Given the description of an element on the screen output the (x, y) to click on. 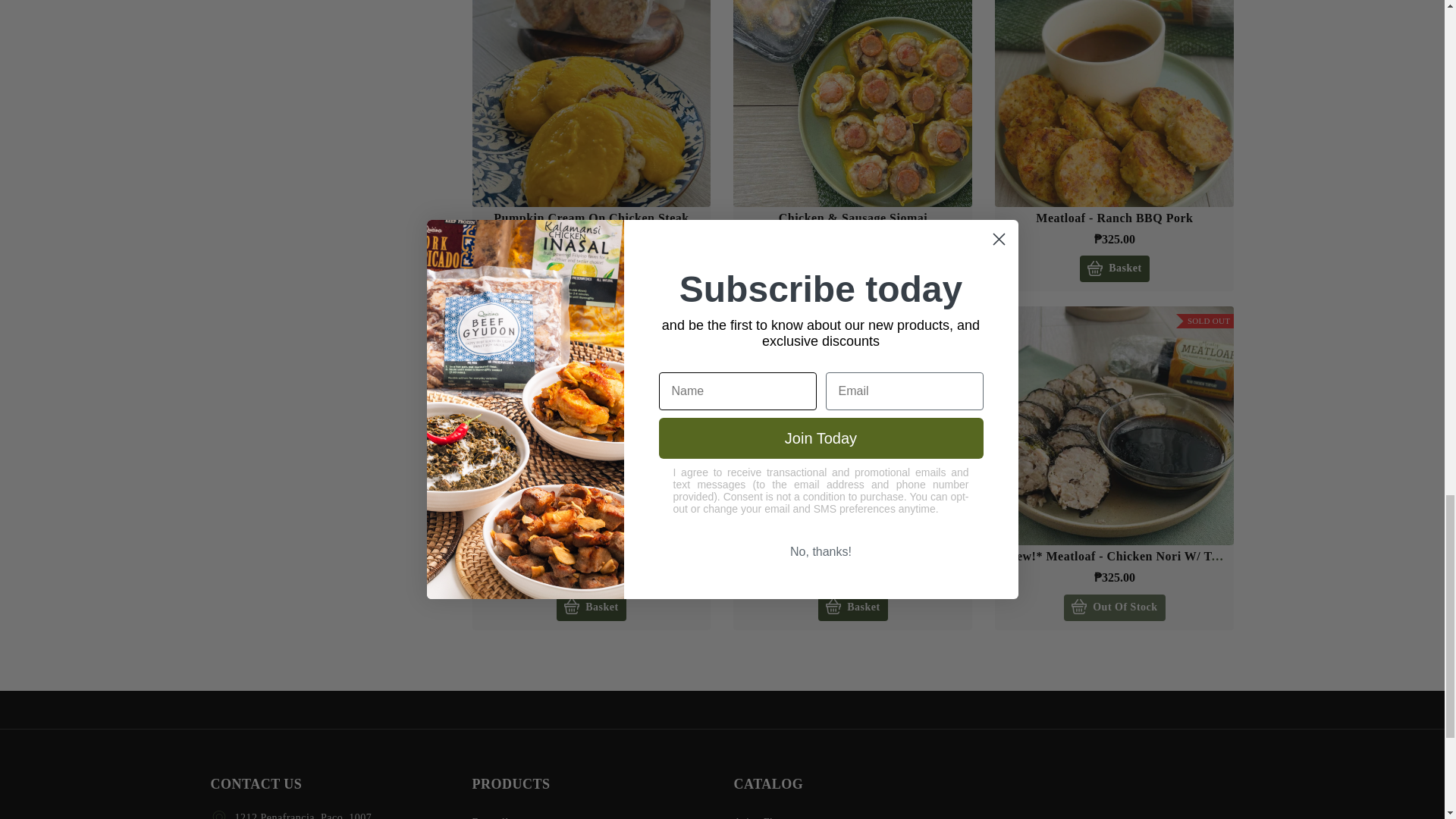
Add to cart (591, 268)
Add to cart (852, 268)
Add to cart (1114, 268)
